Given the description of an element on the screen output the (x, y) to click on. 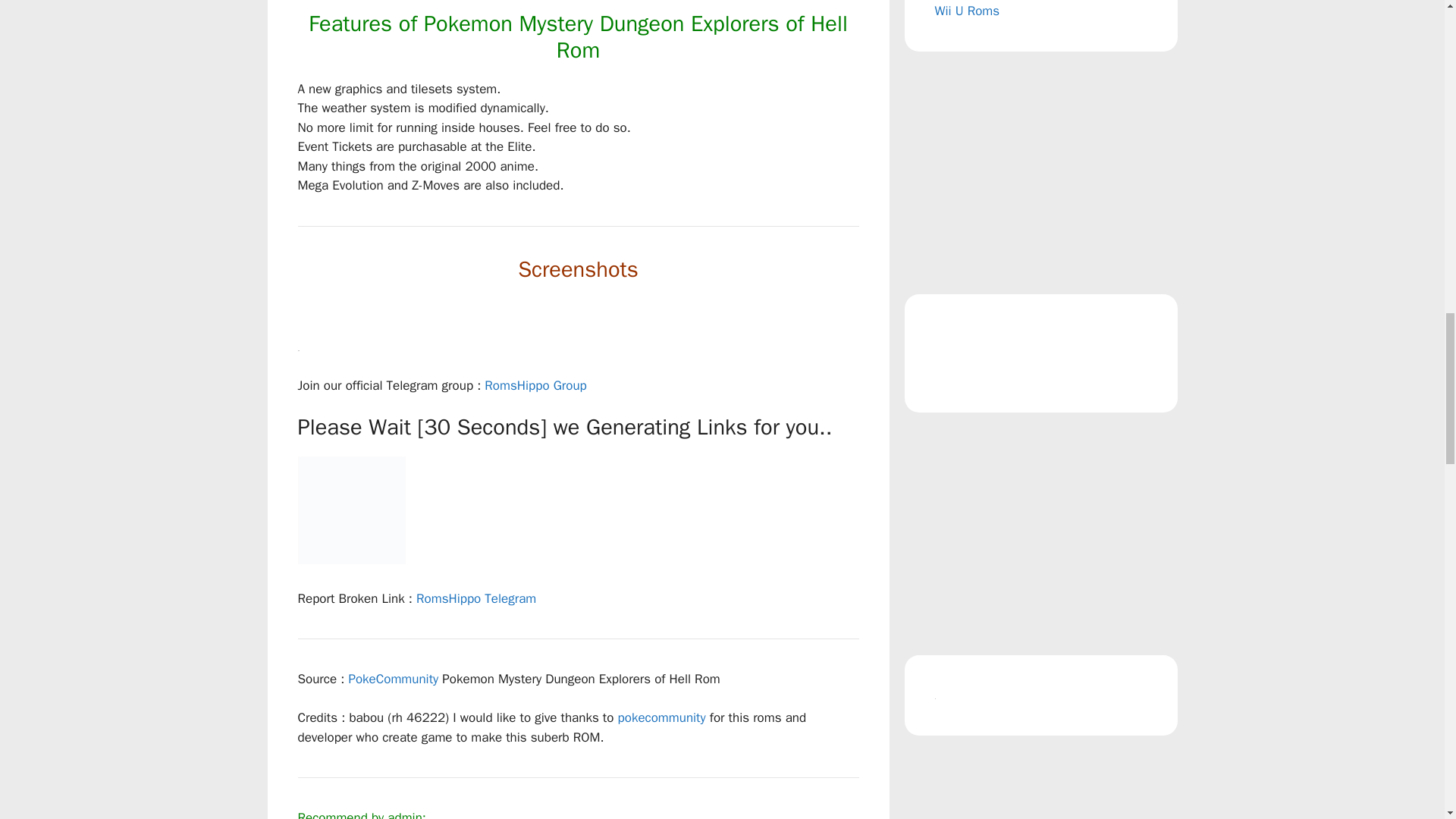
Advertisement (1040, 785)
Advertisement (1040, 533)
Advertisement (1040, 172)
